Given the description of an element on the screen output the (x, y) to click on. 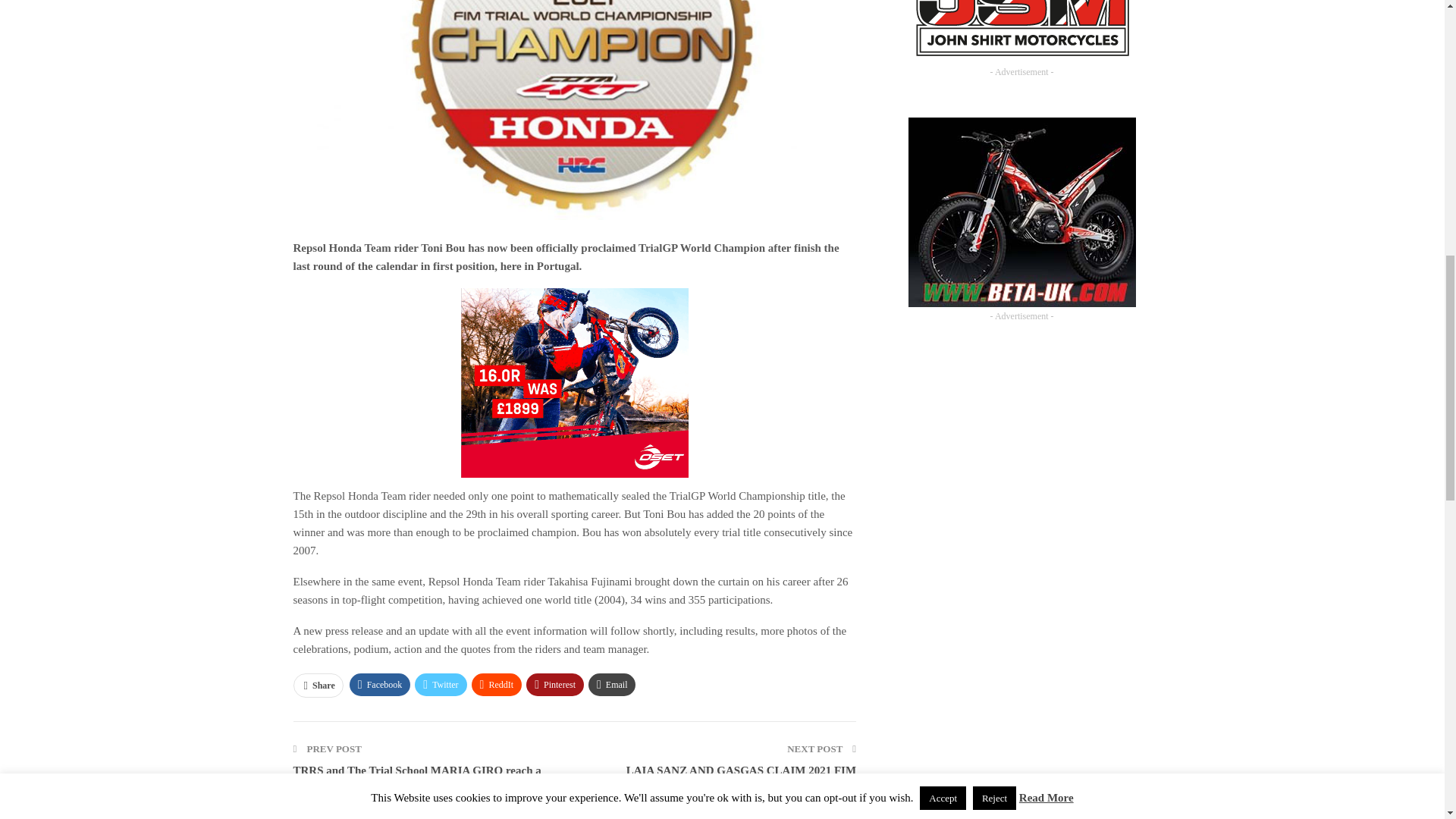
Pinterest (554, 684)
Facebook (379, 684)
Email (612, 684)
Twitter (439, 684)
ReddIt (496, 684)
